Given the description of an element on the screen output the (x, y) to click on. 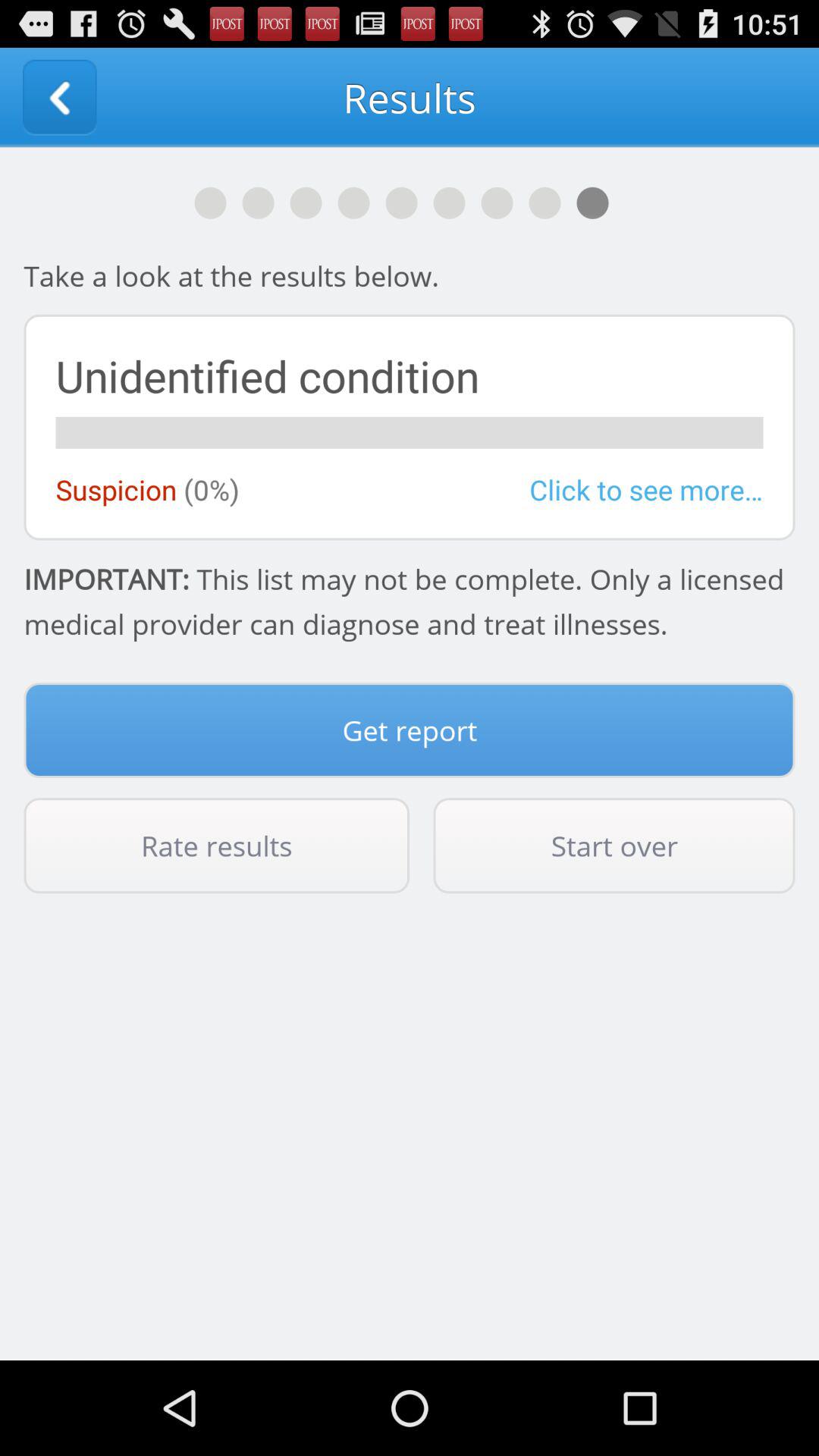
click start over item (614, 845)
